Given the description of an element on the screen output the (x, y) to click on. 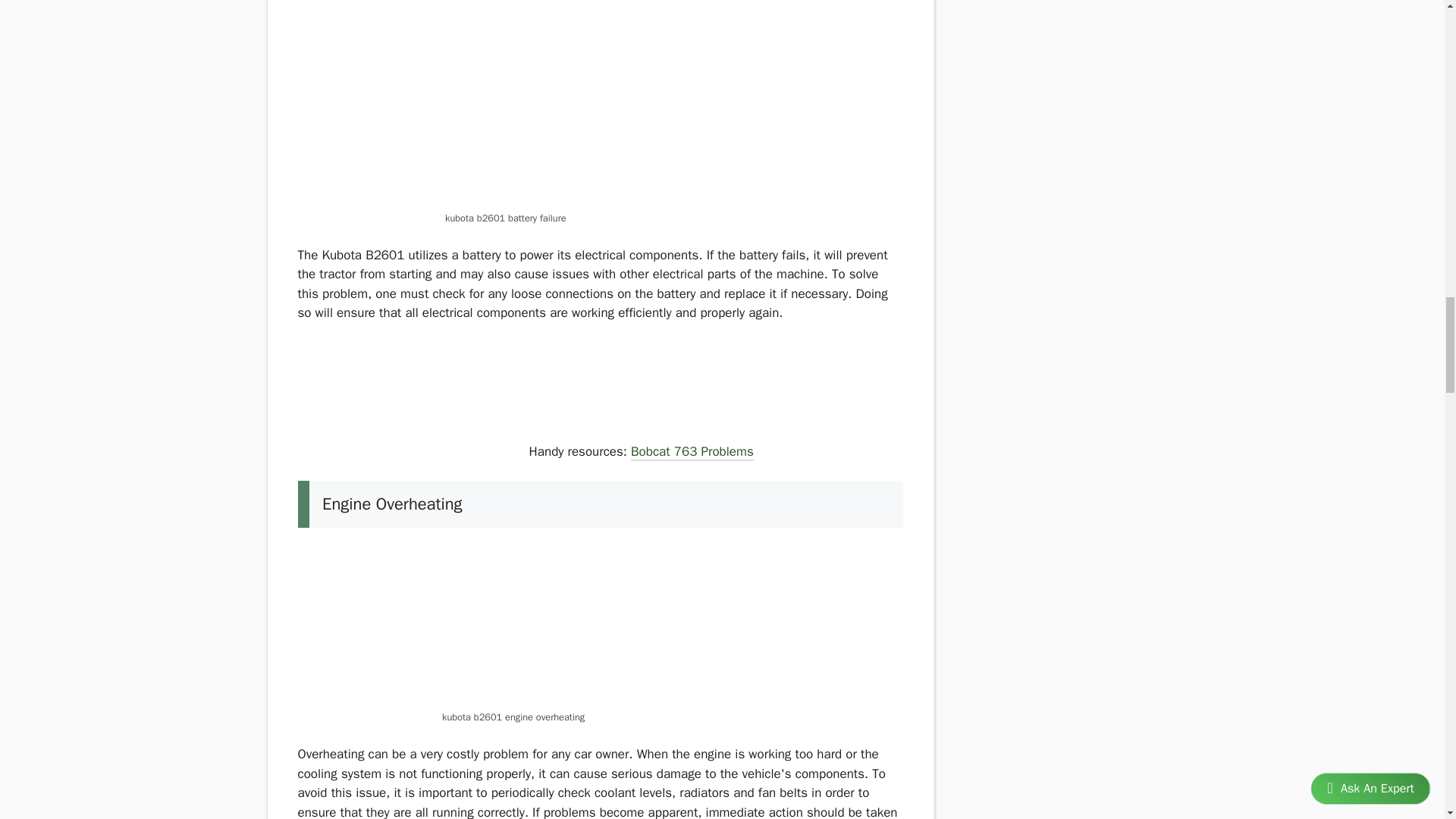
kubota b2601 problems 5 (410, 398)
kubota b2601 problems 4 (600, 104)
kubota b2601 problems 6 (600, 624)
Bobcat 763 Problems (692, 452)
